Given the description of an element on the screen output the (x, y) to click on. 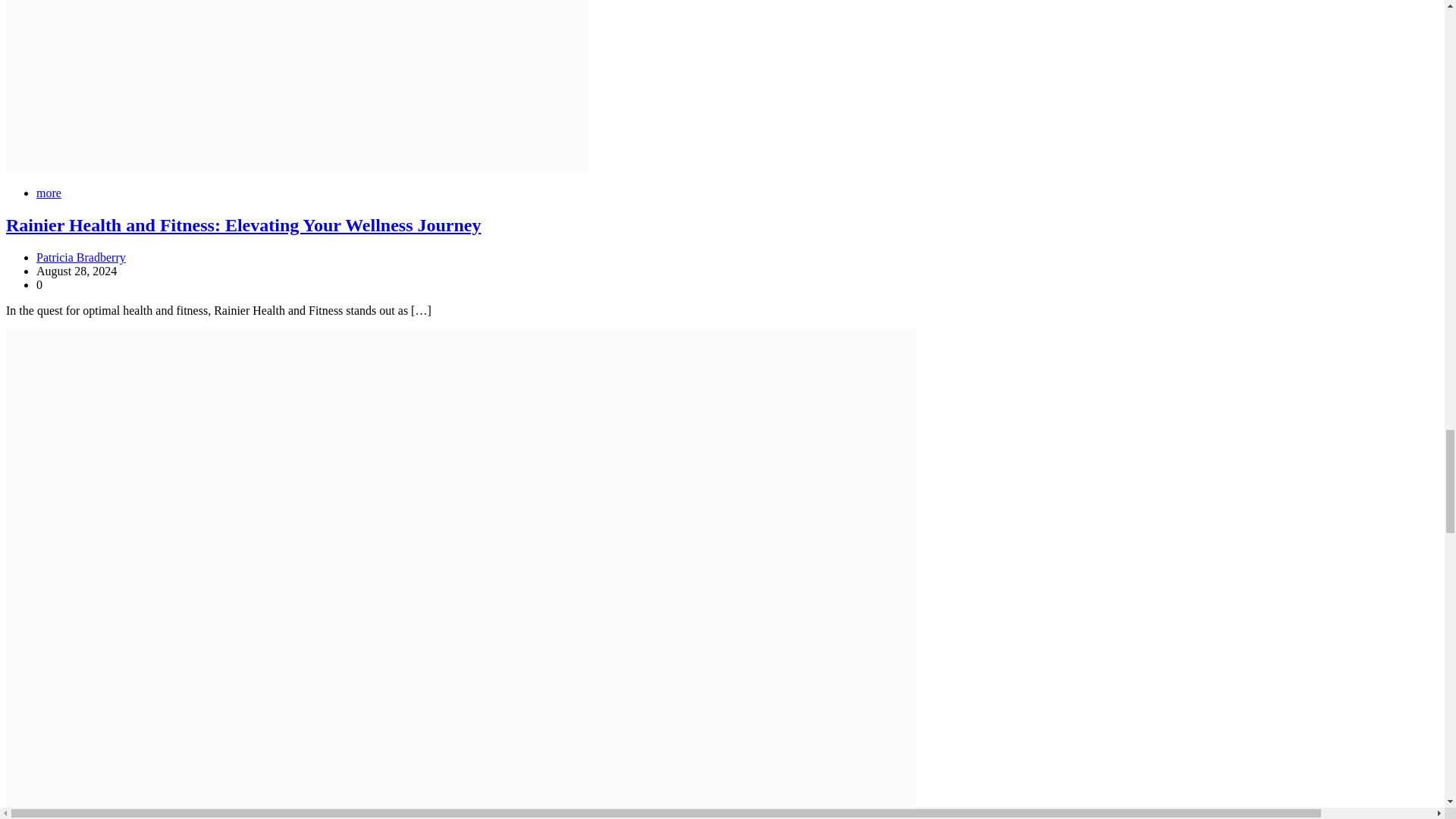
Rainier Health and Fitness: Elevating Your Wellness Journey (243, 225)
Patricia Bradberry (80, 256)
more (48, 192)
